Given the description of an element on the screen output the (x, y) to click on. 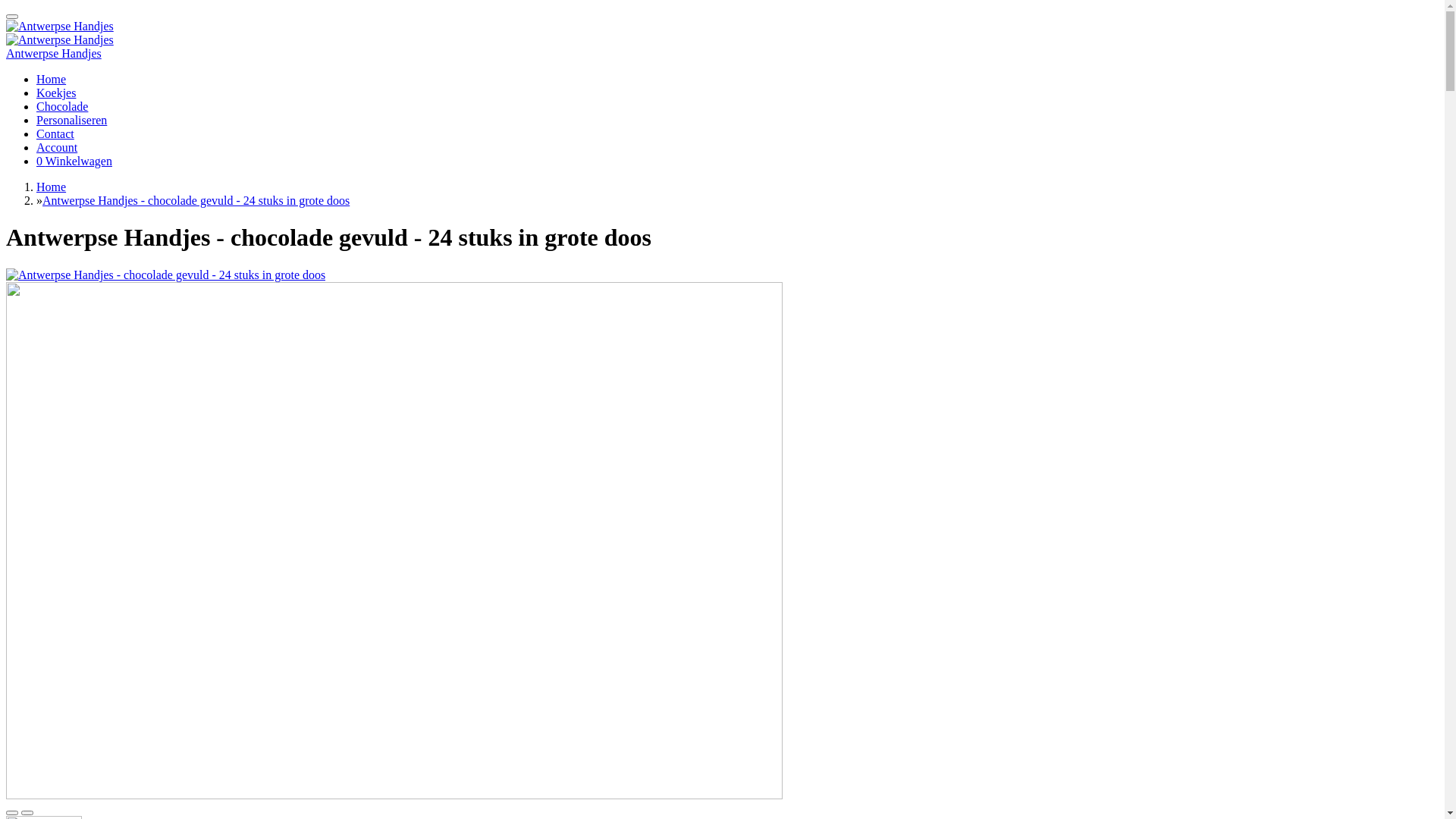
0 Winkelwagen Element type: text (74, 160)
Contact Element type: text (55, 133)
Antwerpse Handjes Element type: hover (59, 40)
Antwerpse Handjes Element type: hover (59, 26)
Chocolade Element type: text (61, 106)
Account Element type: text (56, 147)
Home Element type: text (50, 186)
Koekjes Element type: text (55, 92)
Home Element type: text (50, 78)
Antwerpse Handjes Element type: text (53, 53)
Personaliseren Element type: text (71, 119)
